Given the description of an element on the screen output the (x, y) to click on. 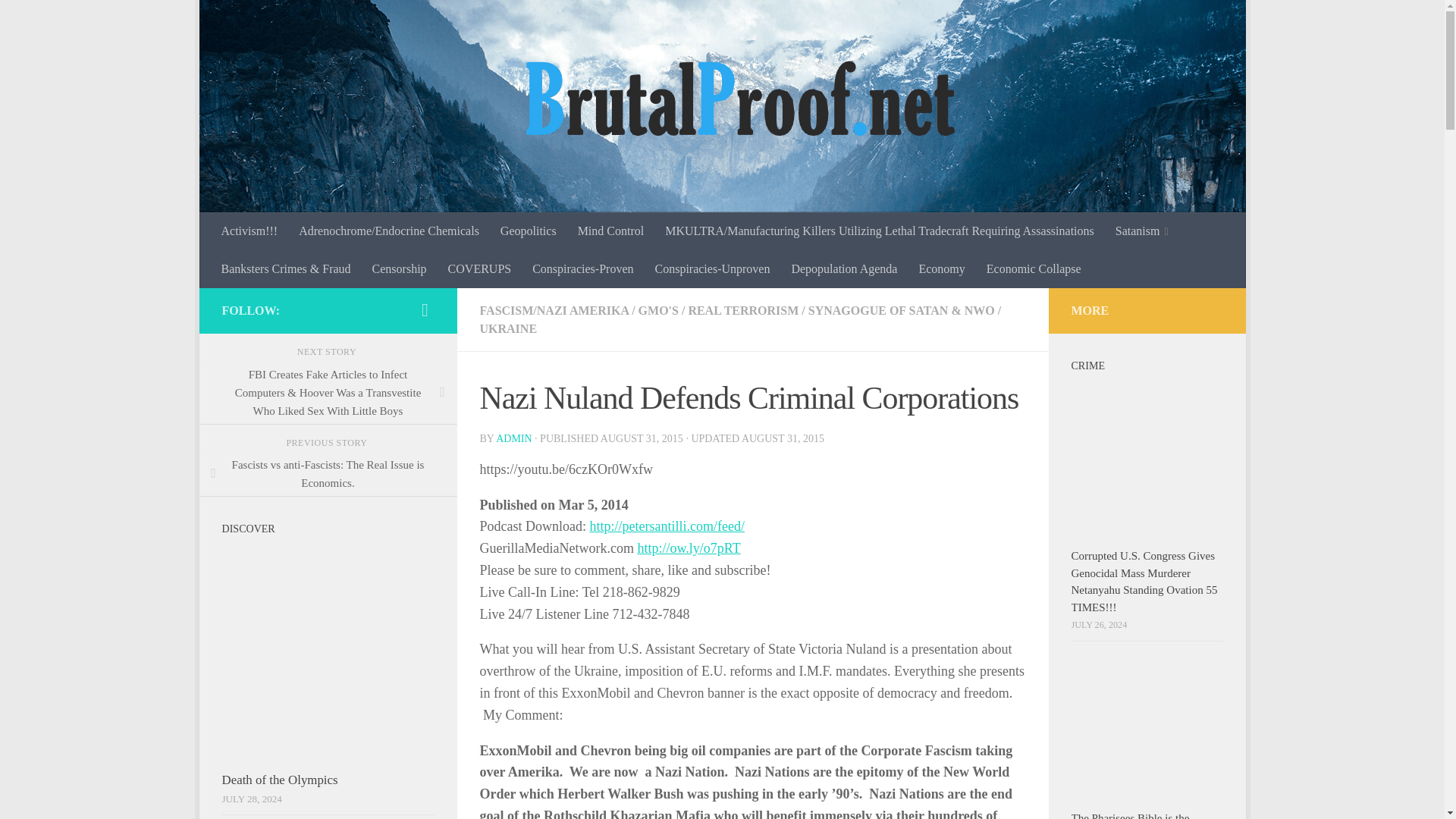
Mind Control (611, 231)
Conspiracies-Proven (582, 269)
Geopolitics (528, 231)
Activism!!! (249, 231)
Get the book on Amazon (423, 310)
Censorship (399, 269)
Satanism (1142, 231)
Posts by Admin (513, 438)
COVERUPS (480, 269)
Conspiracies-Unproven (711, 269)
Skip to content (258, 20)
